Given the description of an element on the screen output the (x, y) to click on. 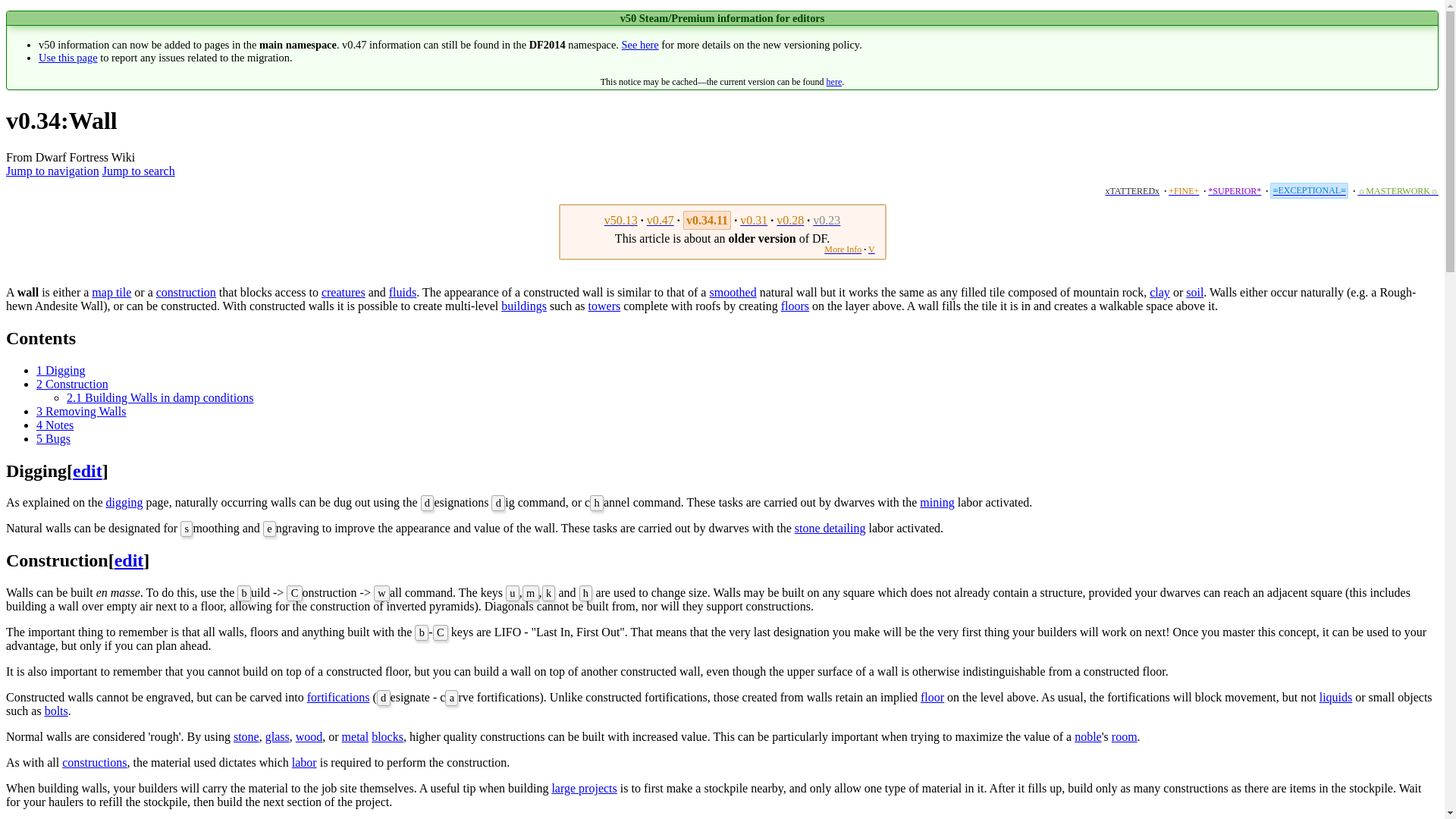
See here (640, 44)
Wall (620, 219)
Jump to navigation (52, 170)
v0.31:Wall (753, 219)
5 Bugs (52, 438)
fortifications (338, 697)
buildings (523, 305)
2.1 Building Walls in damp conditions (159, 397)
clay (1160, 291)
v0.28 (789, 219)
